Given the description of an element on the screen output the (x, y) to click on. 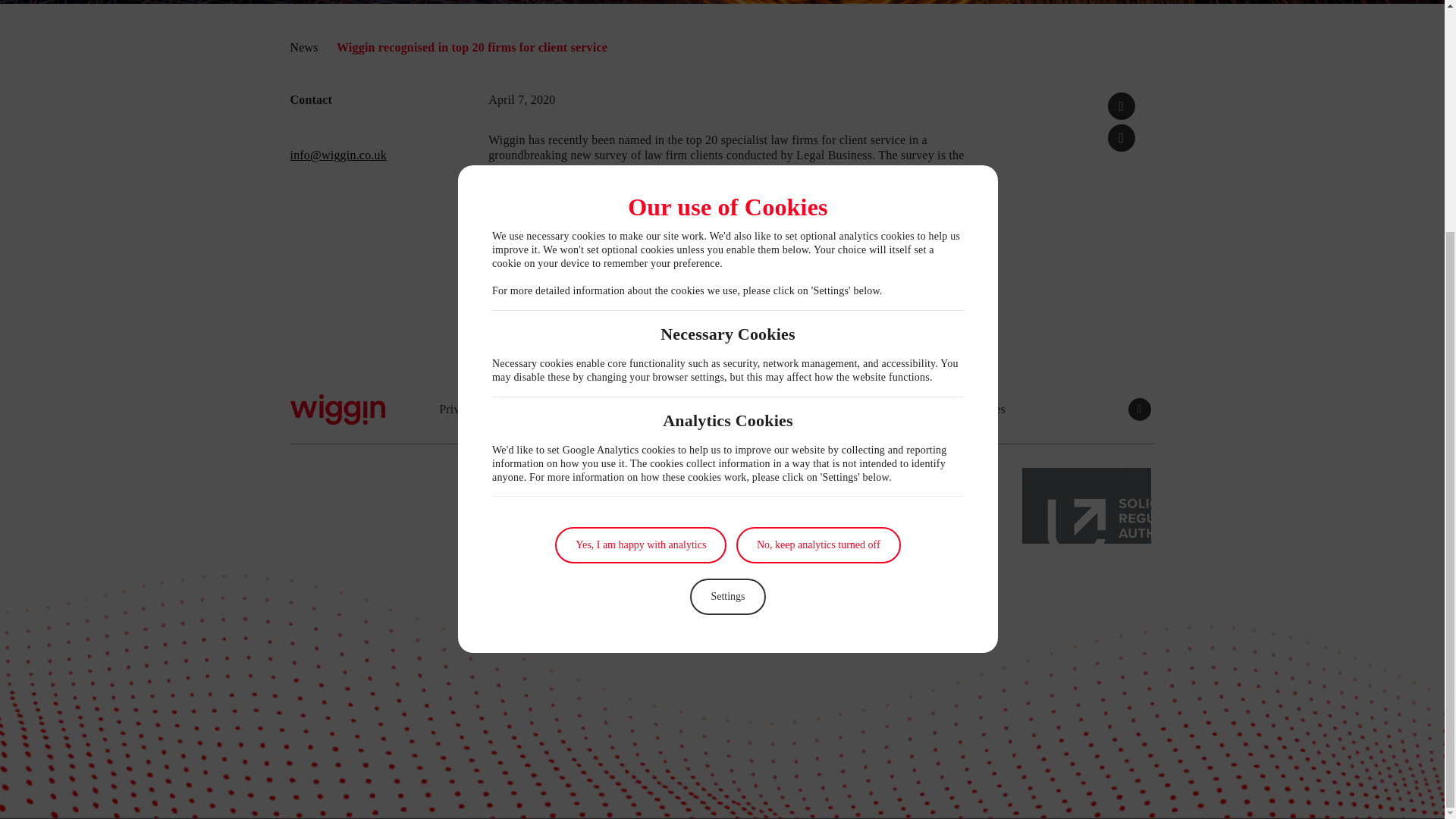
Wiggin recognised in top 20 firms for client service (1121, 105)
Settings (727, 281)
Social Media Link (1139, 409)
displaying-external-site-cert (1086, 505)
Wiggin recognised in top 20 firms for client service (1121, 137)
Email address for general enquiries (337, 154)
